Given the description of an element on the screen output the (x, y) to click on. 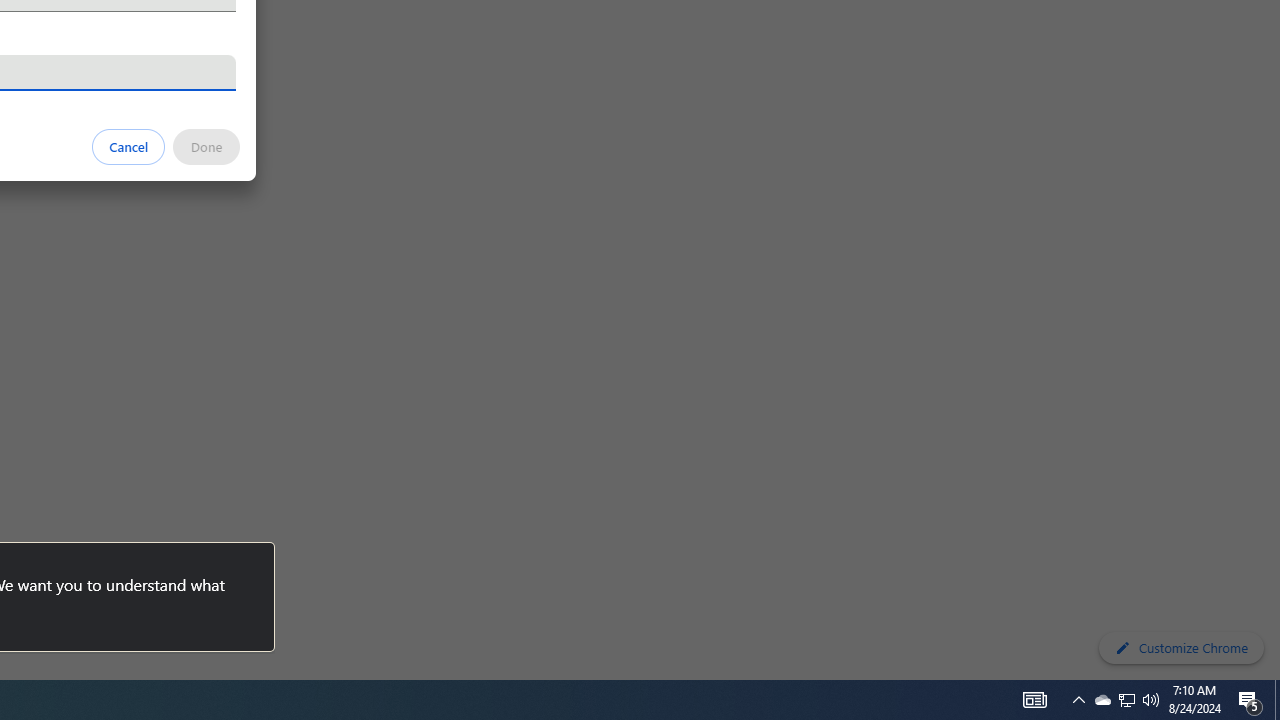
Done (206, 146)
Cancel (129, 146)
